Given the description of an element on the screen output the (x, y) to click on. 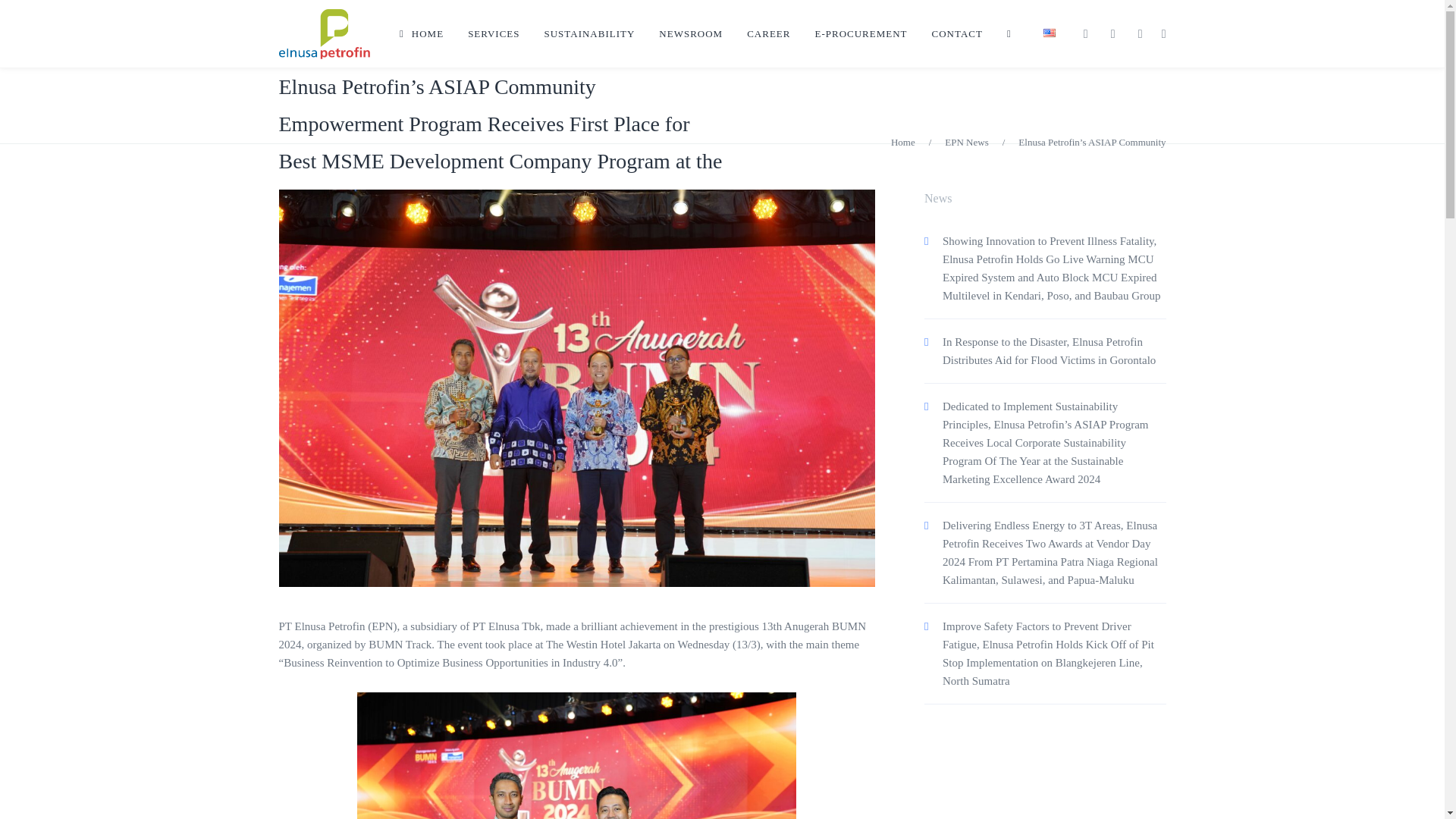
SUSTAINABILITY (589, 33)
Elnusa Petrofin Home Page (421, 33)
SERVICES (493, 33)
CAREER (768, 33)
PT Elnusa Petrofin Official Website (324, 34)
E-PROCUREMENT (860, 33)
CONTACT (957, 33)
Home (903, 142)
NEWSROOM (690, 33)
HOME (421, 33)
